Given the description of an element on the screen output the (x, y) to click on. 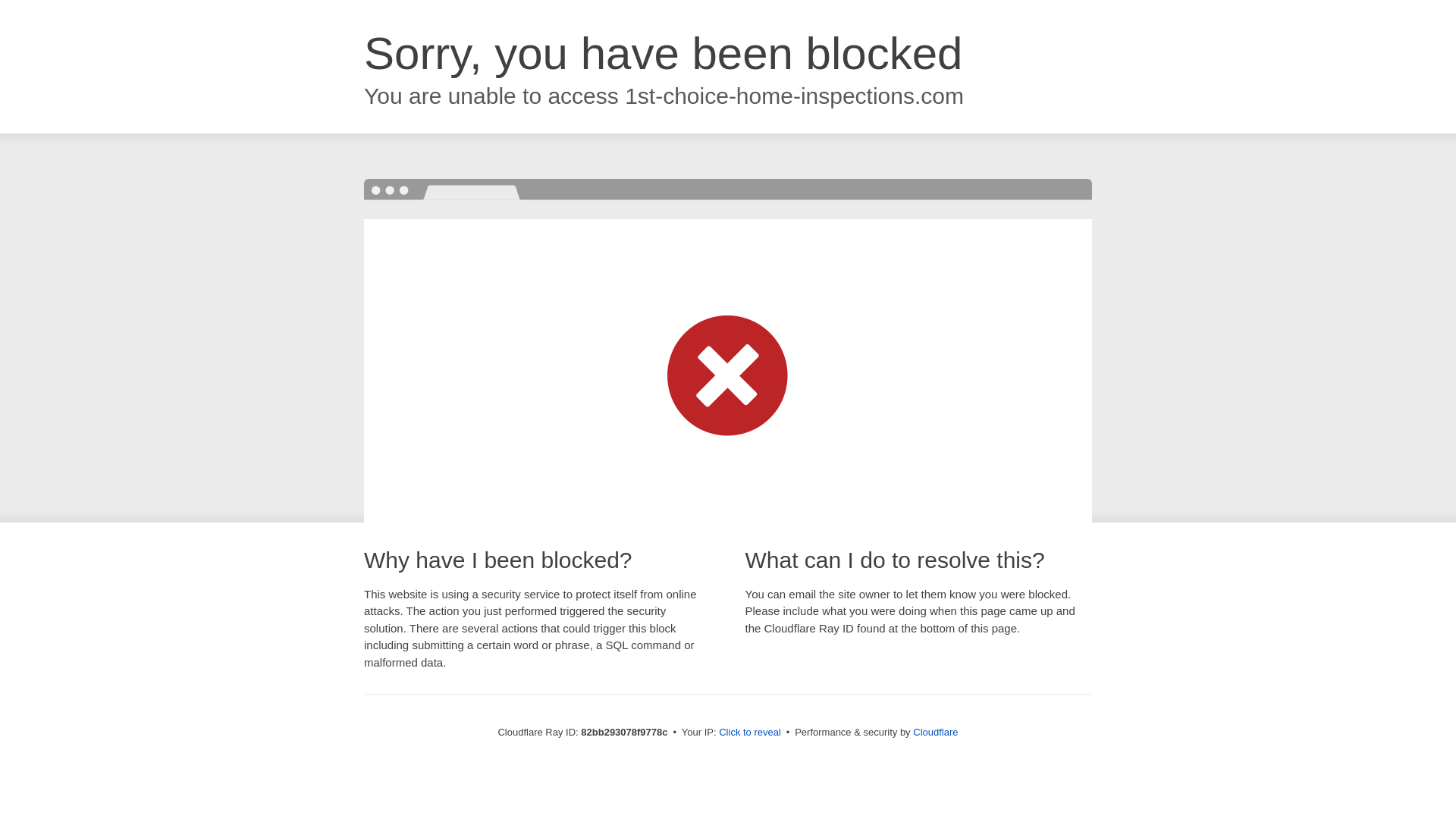
Click to reveal Element type: text (749, 732)
Cloudflare Element type: text (935, 731)
